Given the description of an element on the screen output the (x, y) to click on. 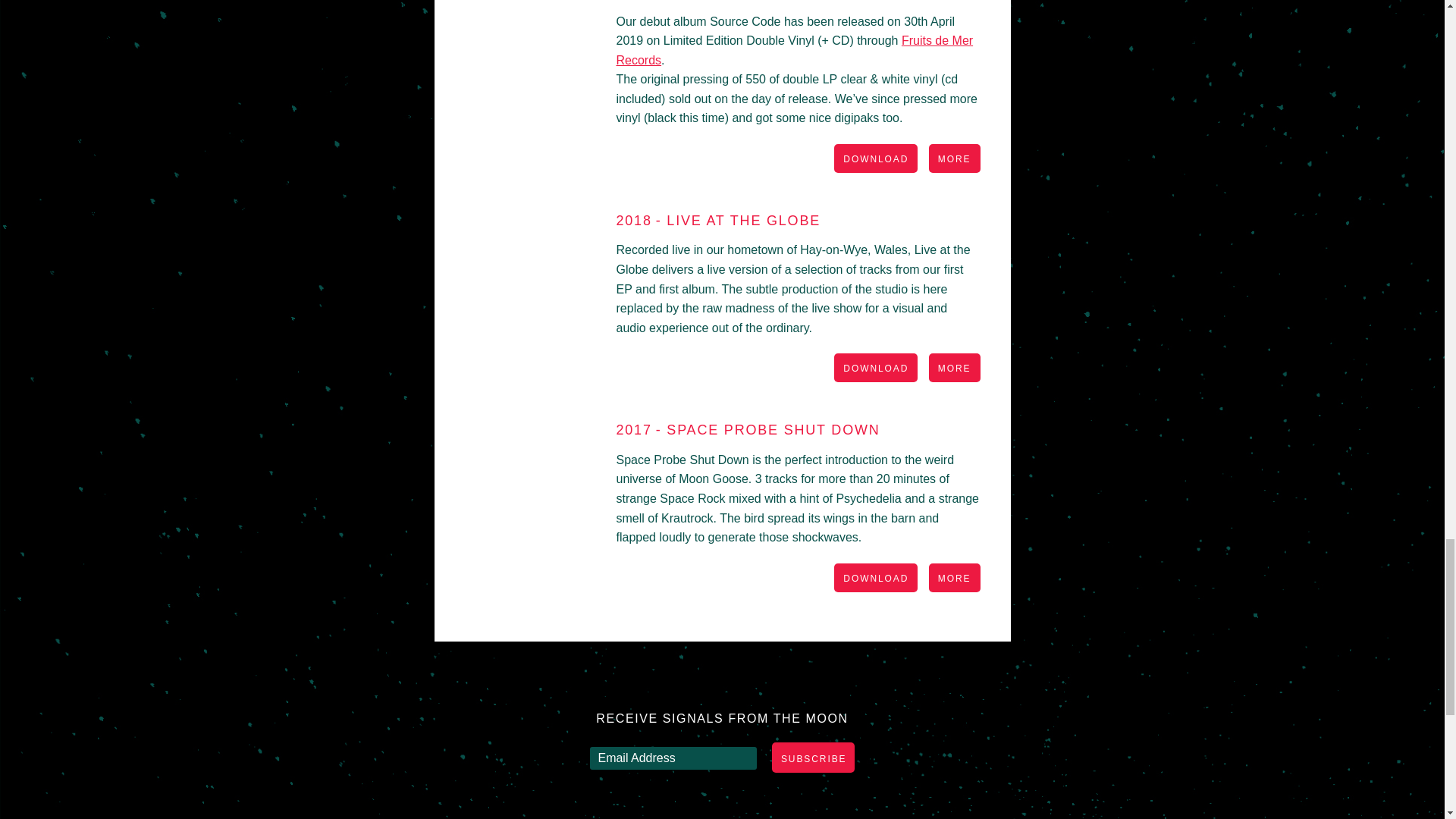
DOWNLOAD (875, 158)
MORE (954, 158)
Fruits de Mer Records (793, 50)
- LIVE AT THE GLOBE (738, 220)
MORE (954, 368)
DOWNLOAD (875, 368)
Email Address (673, 757)
2018 (632, 220)
2017 (632, 429)
Subscribe (812, 757)
